Given the description of an element on the screen output the (x, y) to click on. 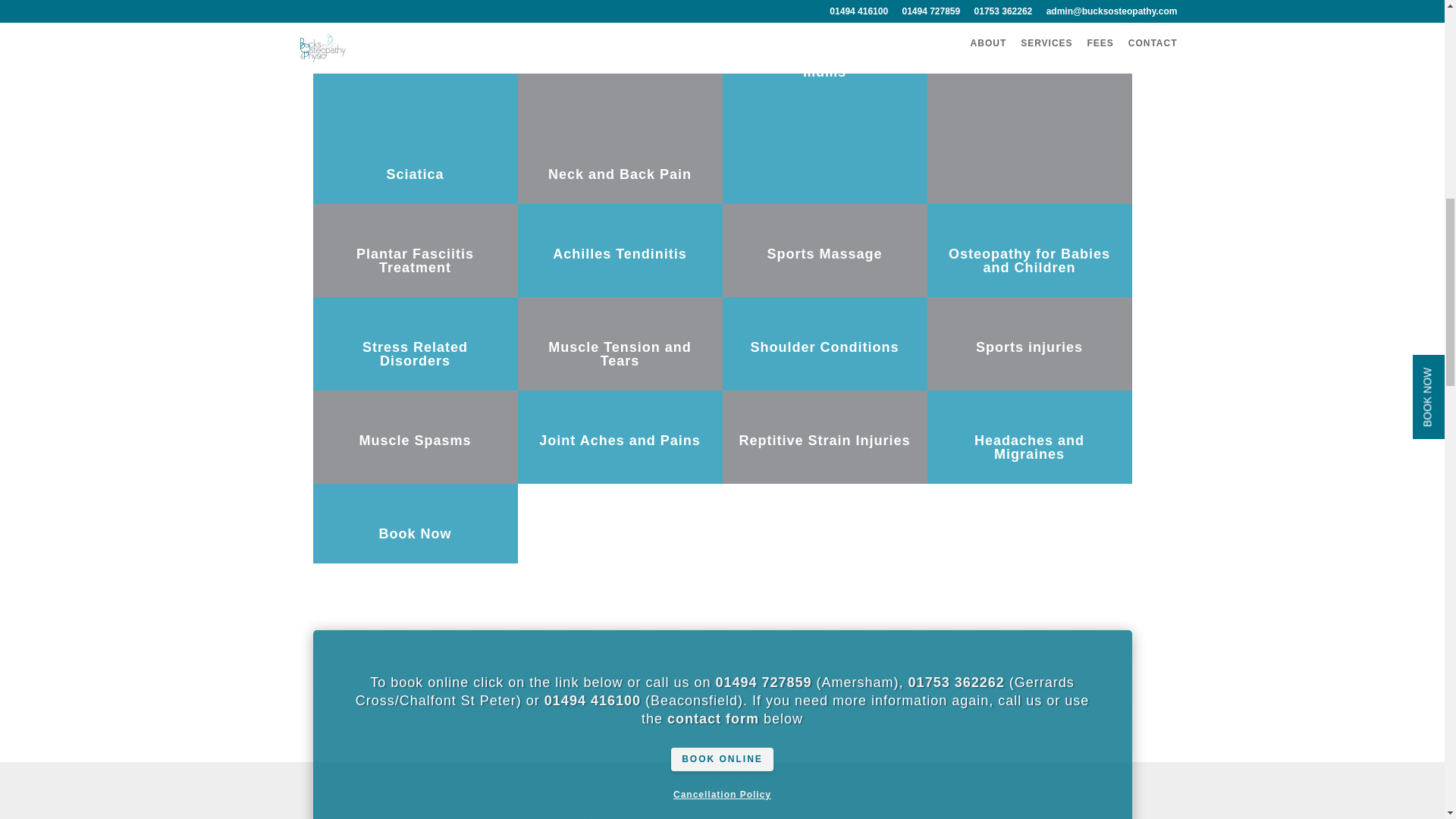
Sciatica (414, 174)
Arthritic Pain (1029, 58)
Plantar Fasciitis Treatment (415, 260)
Pregnancy and new mums (824, 64)
Neck and Back Pain (619, 174)
